Given the description of an element on the screen output the (x, y) to click on. 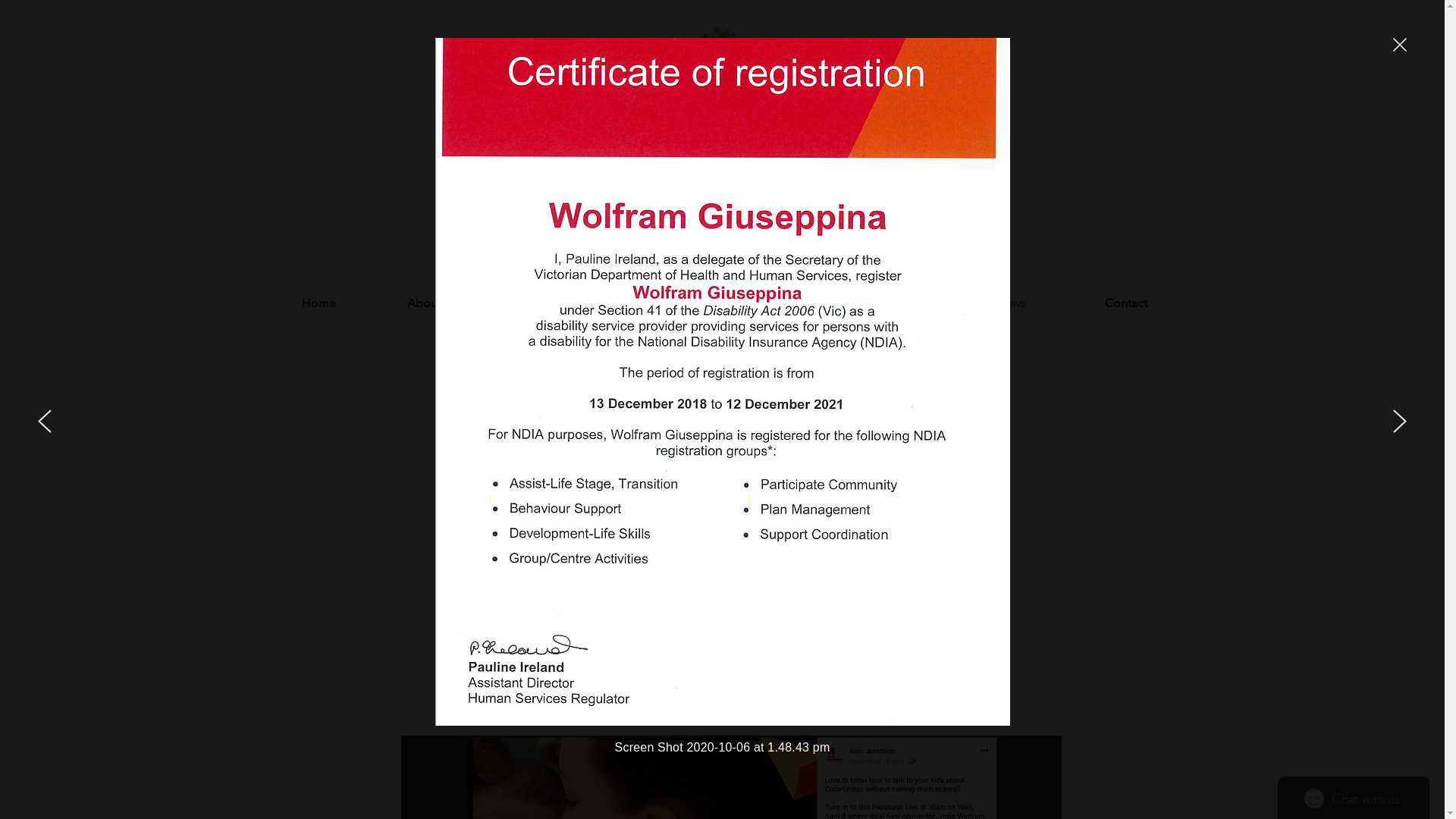
News Element type: text (1009, 302)
Behaviour Therapy Element type: text (663, 302)
Home Element type: text (318, 302)
NDIS Element type: text (779, 302)
Counselling Element type: text (548, 302)
Fees Element type: text (894, 302)
JOSIE WOLFRAM Element type: text (721, 111)
About Me Element type: text (433, 302)
Contact Element type: text (1125, 302)
CHILD, ADOLESCENT & ADULT COUNSELLOR Element type: text (722, 135)
